Given the description of an element on the screen output the (x, y) to click on. 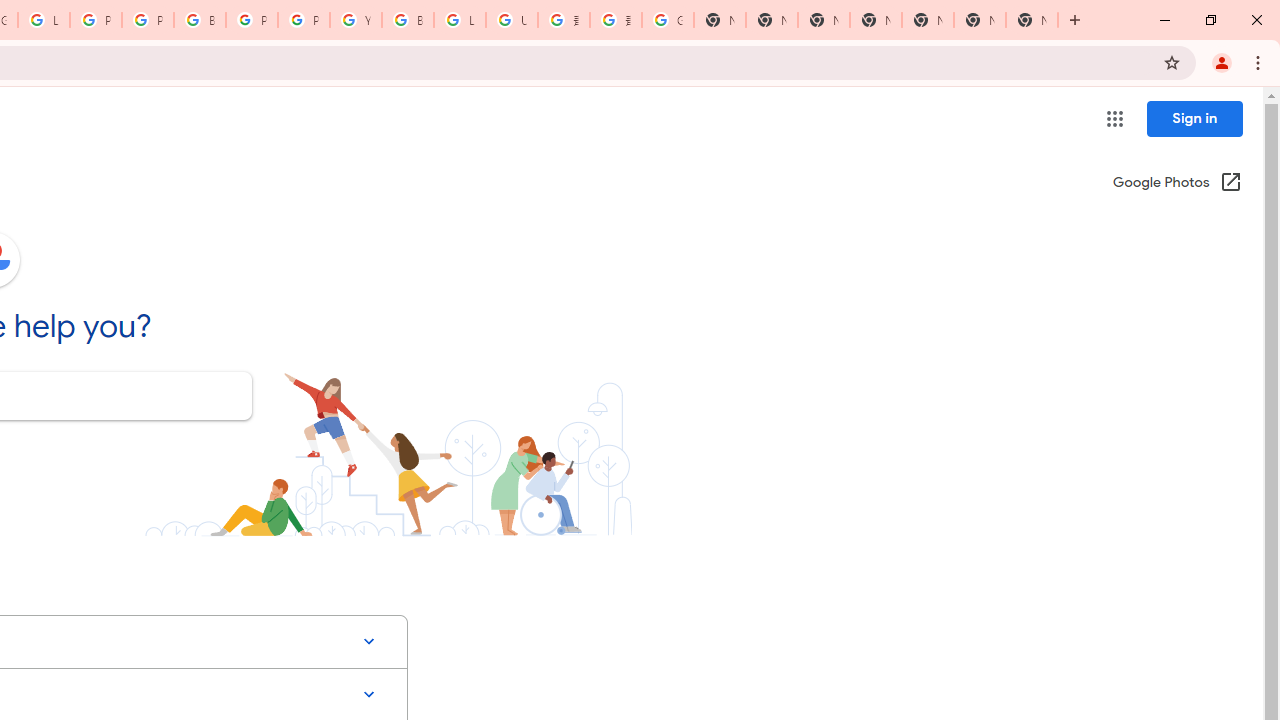
Browse Chrome as a guest - Computer - Google Chrome Help (407, 20)
New Tab (875, 20)
YouTube (355, 20)
Google Photos (Open in a new window) (1177, 183)
